Given the description of an element on the screen output the (x, y) to click on. 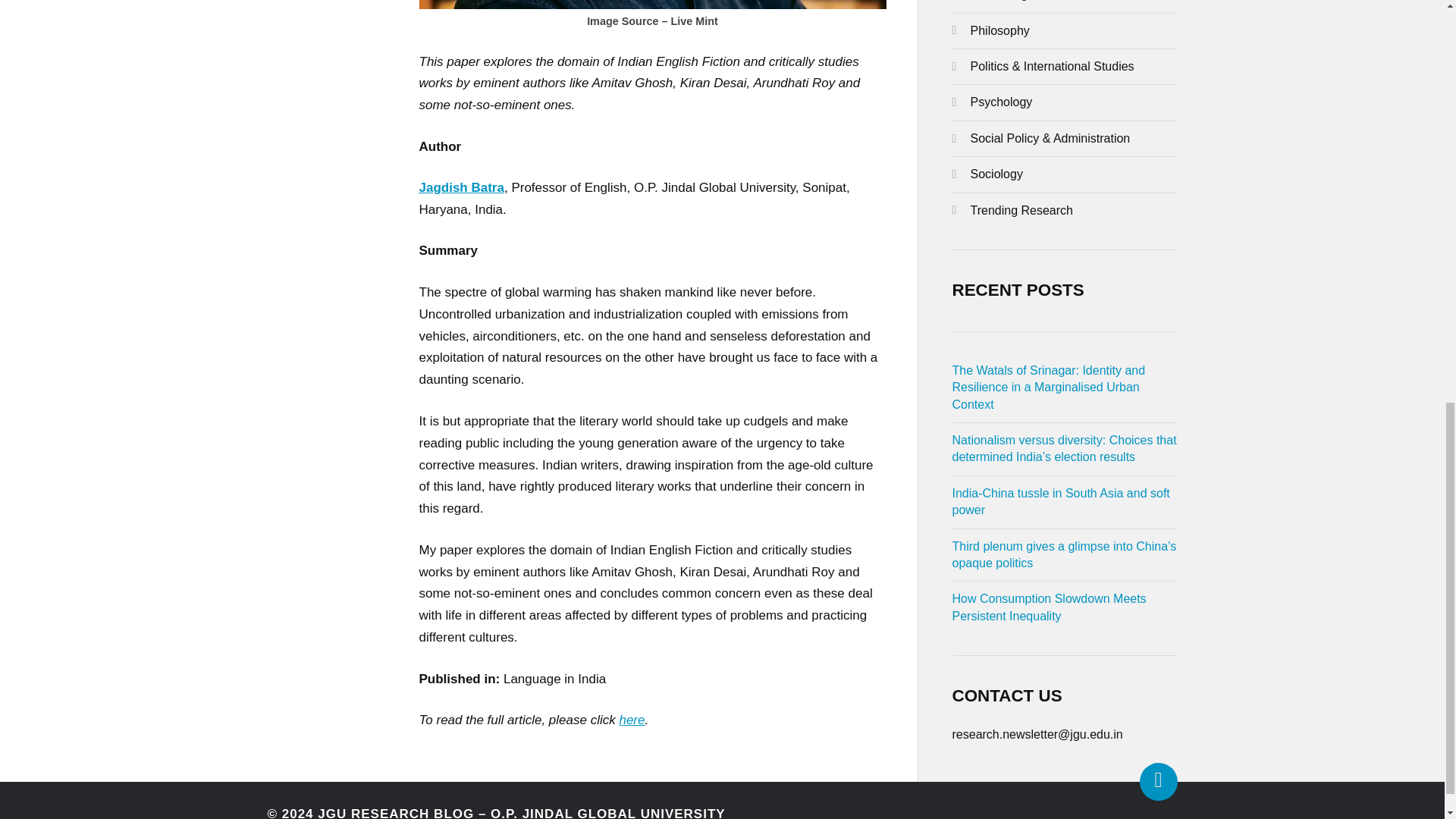
Jagdish Batra (461, 187)
here (631, 719)
